Given the description of an element on the screen output the (x, y) to click on. 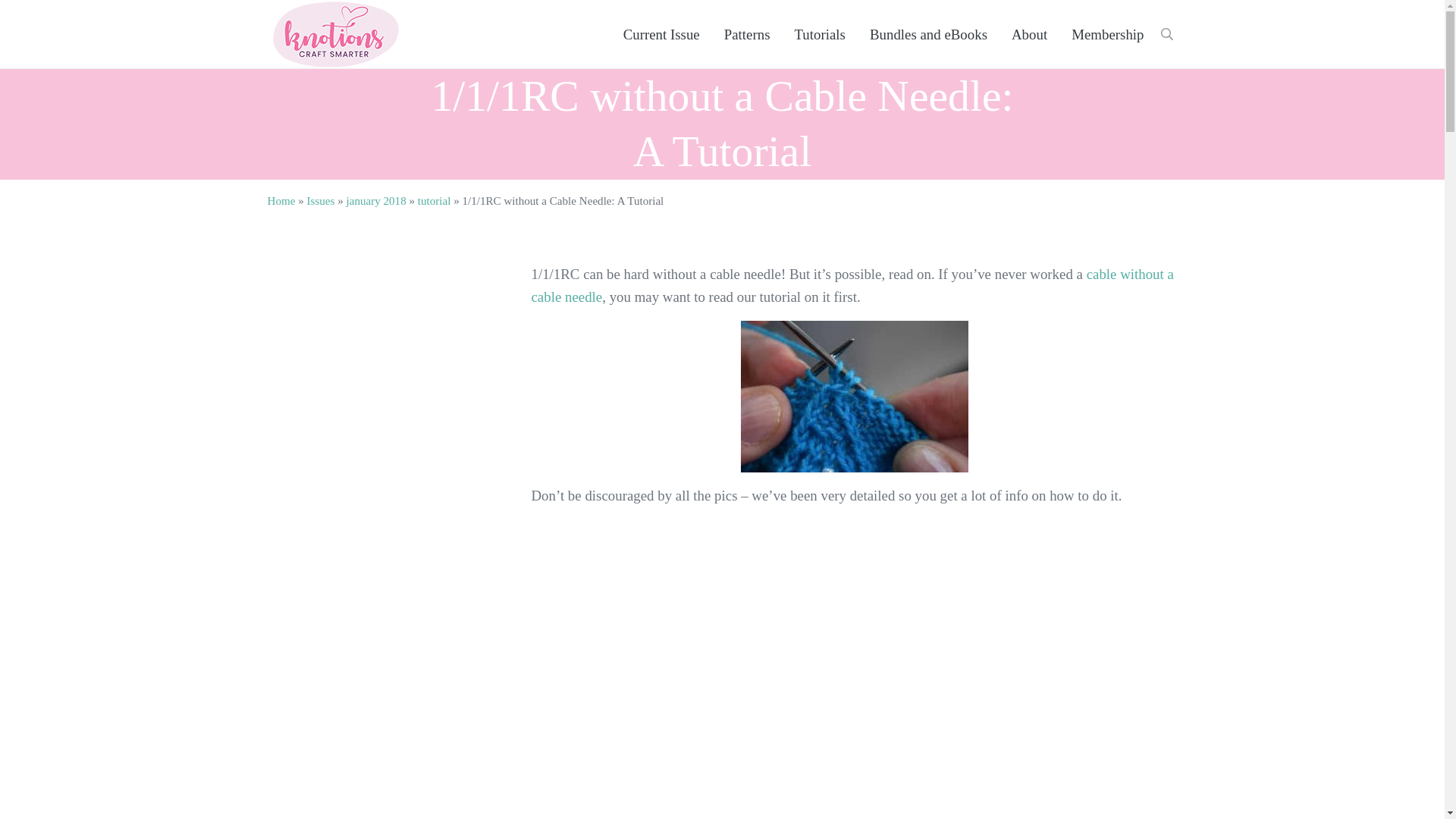
Membership (1107, 34)
cable without a cable needle (852, 285)
Patterns (747, 34)
january 2018 (376, 200)
Home (280, 200)
About Us (1028, 34)
Tutorials (820, 34)
Bundles and eBooks (927, 34)
Bundles of Patterns and eBooks (927, 34)
Tutorials (820, 34)
